Given the description of an element on the screen output the (x, y) to click on. 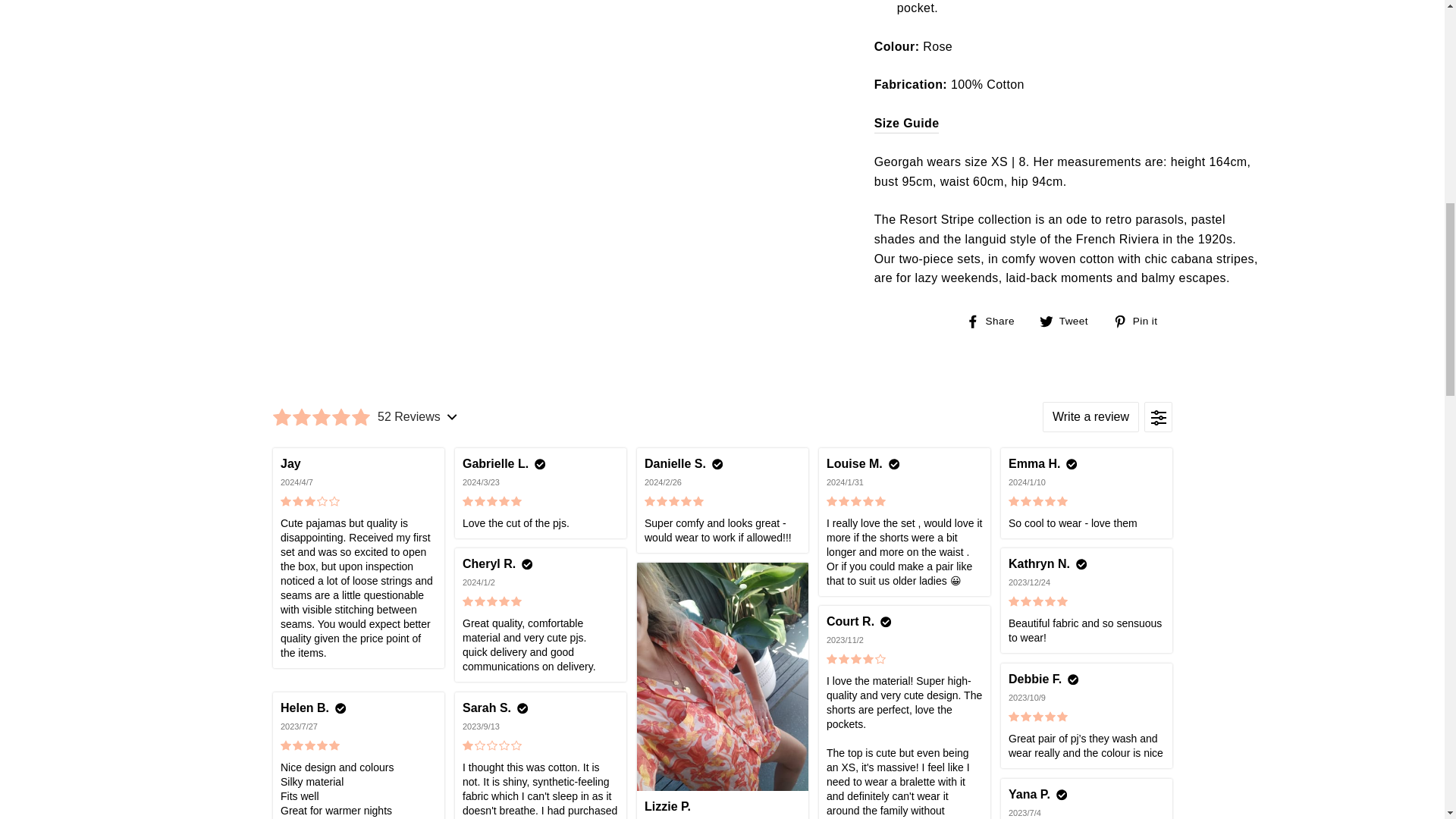
MAEVA Sleep - Size Guide (907, 123)
Tweet on Twitter (1069, 320)
Share on Facebook (996, 320)
Pin on Pinterest (1141, 320)
